Given the description of an element on the screen output the (x, y) to click on. 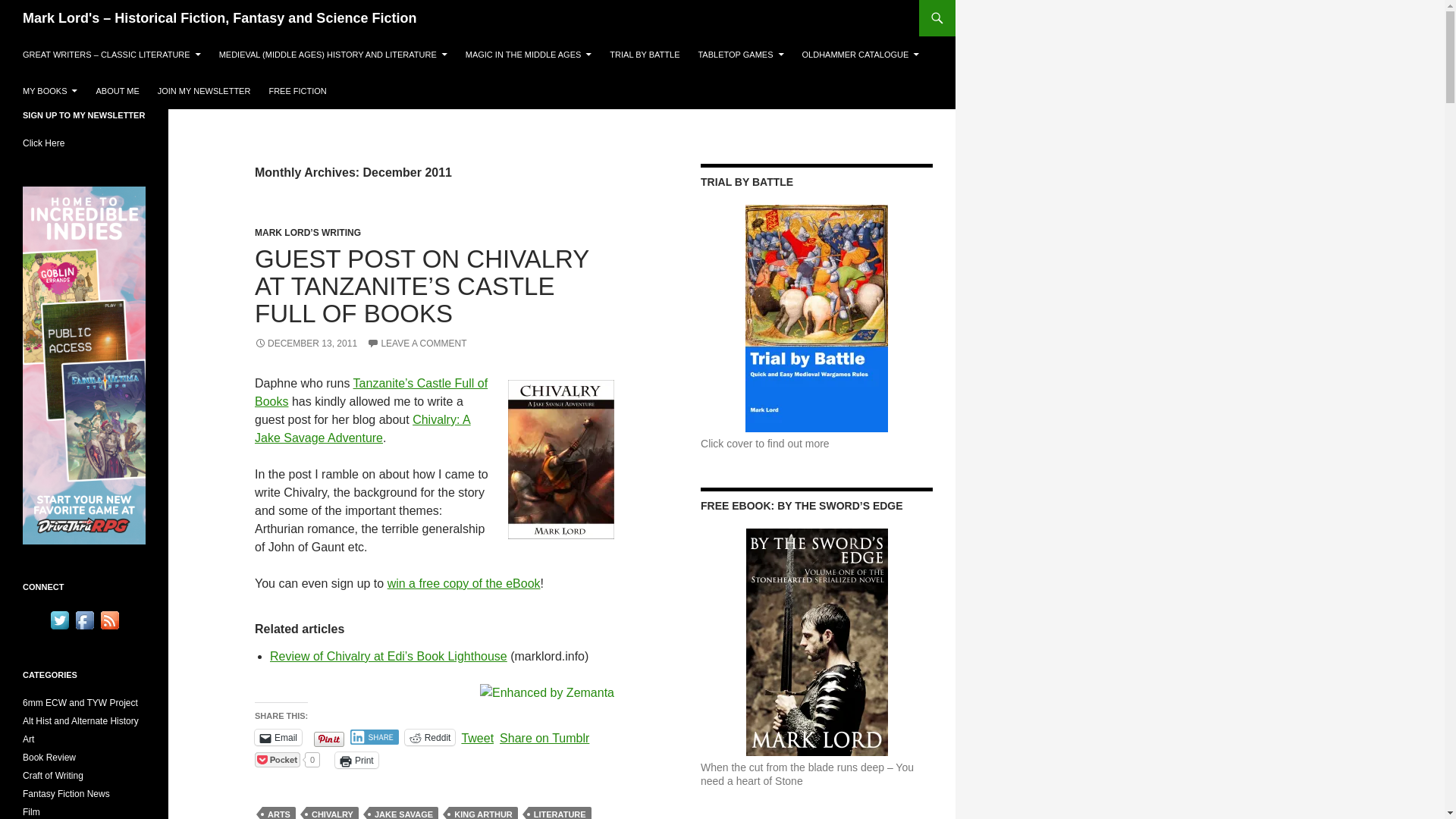
Click to email a link to a friend (277, 737)
Click to print (356, 760)
Share on Tumblr (544, 735)
Chivalry: A Jake Savage Adventure (362, 428)
Click to share on Reddit (429, 737)
